Given the description of an element on the screen output the (x, y) to click on. 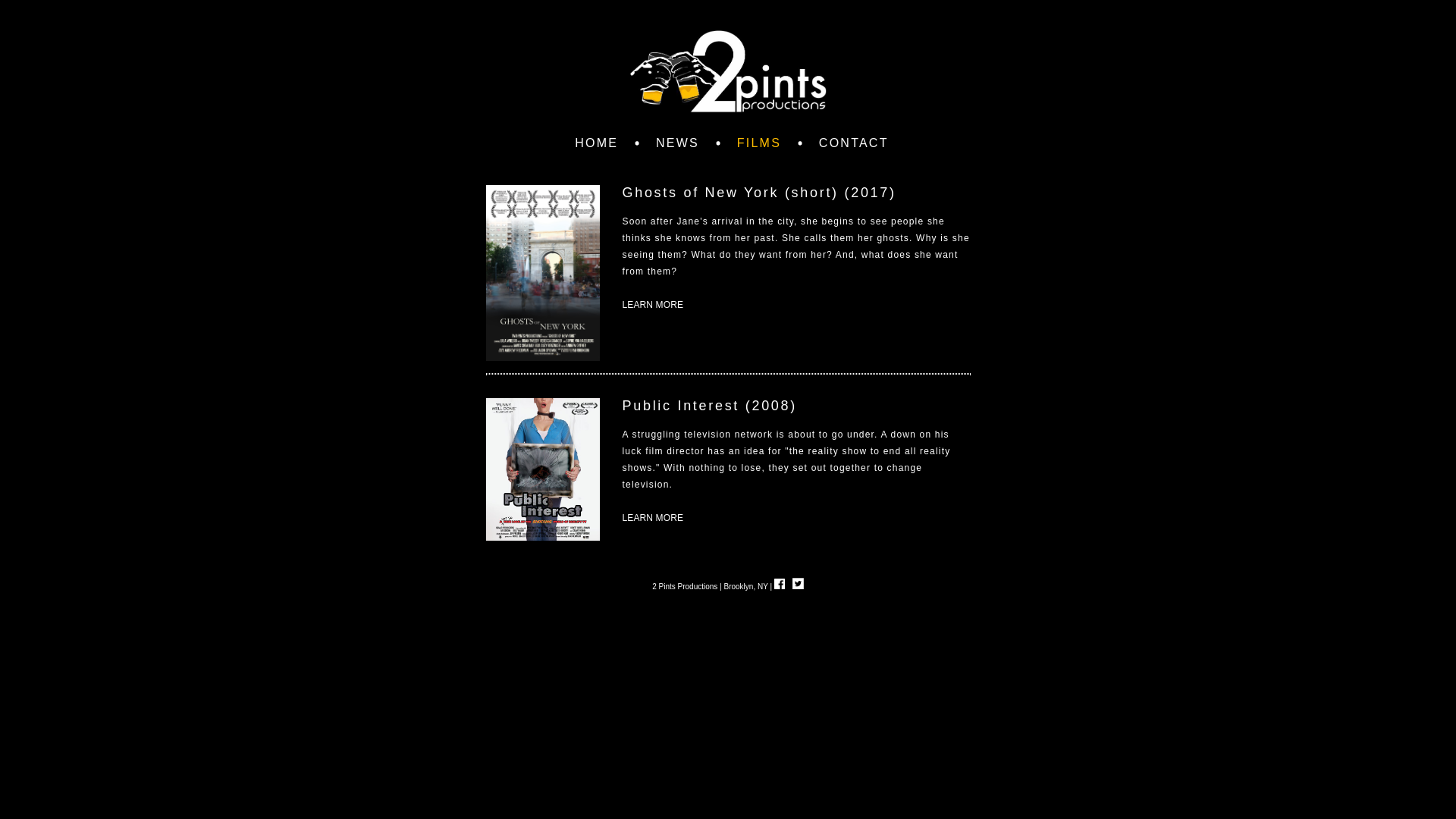
NEWS Element type: text (677, 142)
FILMS Element type: text (759, 142)
HOME Element type: text (596, 142)
CONTACT Element type: text (853, 142)
LEARN MORE Element type: text (652, 525)
LEARN MORE Element type: text (652, 311)
